Given the description of an element on the screen output the (x, y) to click on. 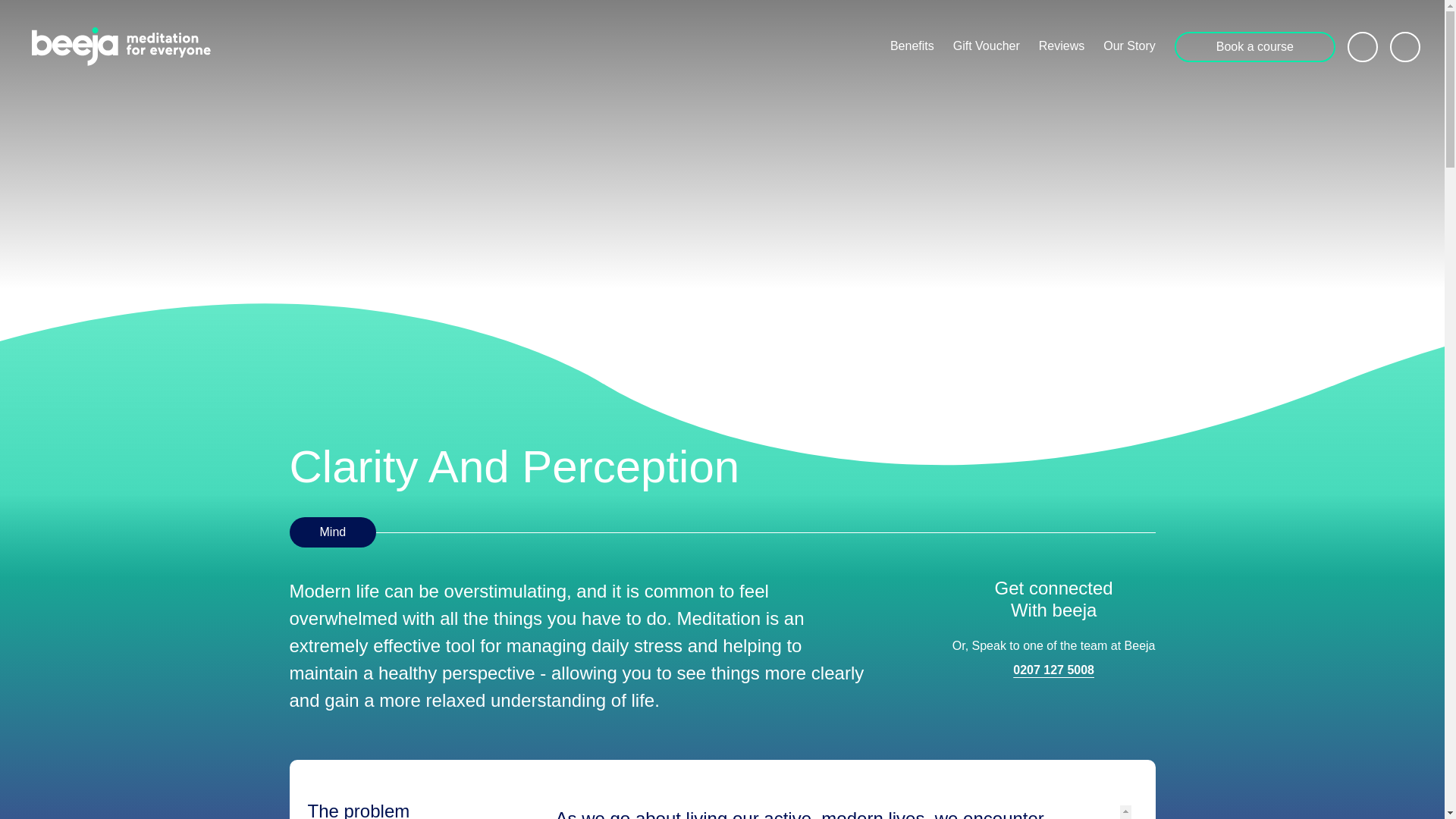
Book a course (1254, 46)
Reviews (1061, 45)
Our Story (1128, 45)
Gift Voucher (986, 45)
